Given the description of an element on the screen output the (x, y) to click on. 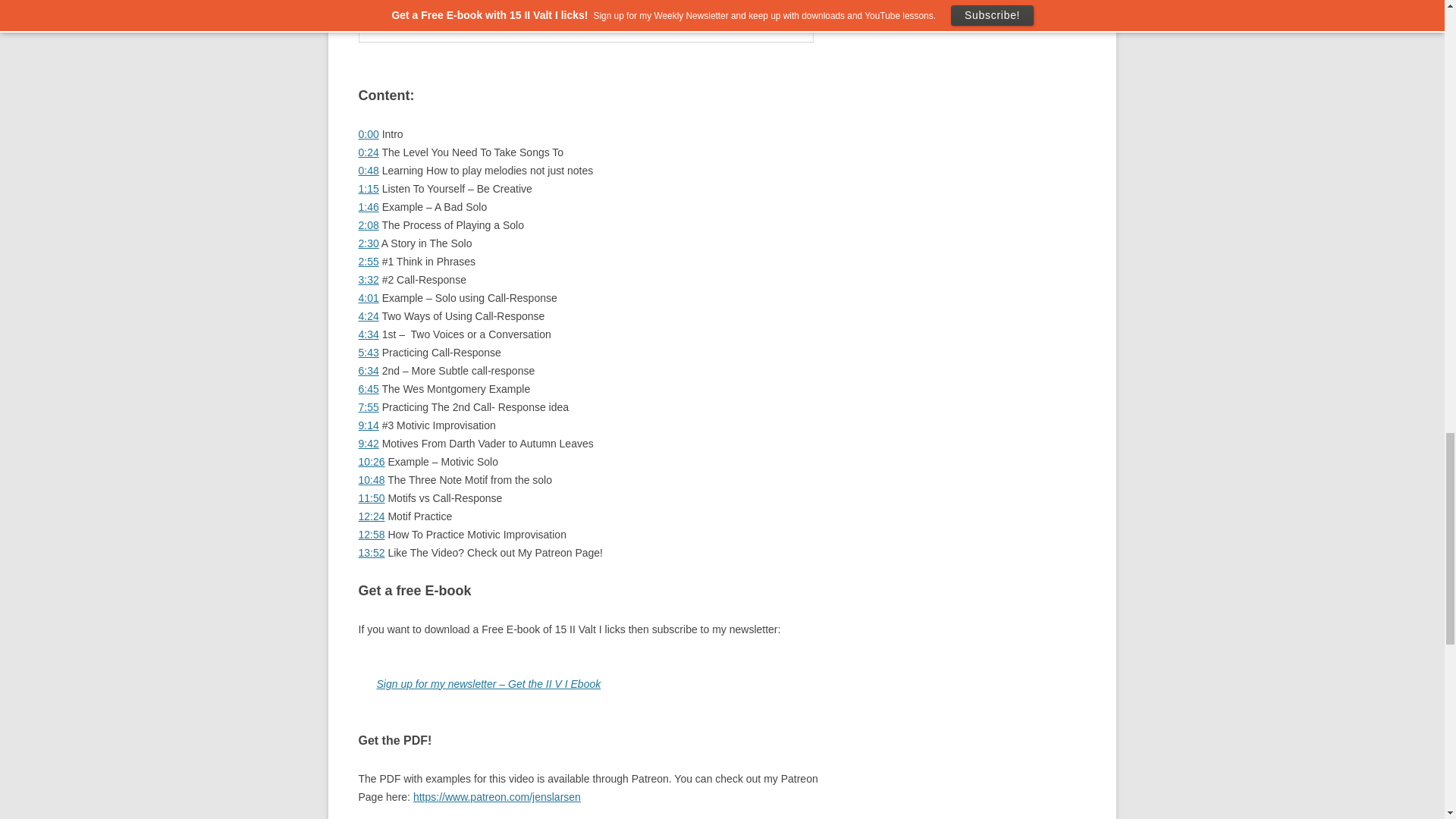
6:34 (368, 370)
10:48 (371, 480)
6:45 (368, 388)
2:30 (368, 243)
2:55 (368, 261)
7:55 (368, 407)
9:42 (368, 443)
4:01 (368, 297)
1:46 (368, 206)
4:24 (368, 316)
3:32 (368, 279)
1:15 (368, 188)
0:00 (368, 133)
9:14 (368, 425)
10:26 (371, 461)
